Given the description of an element on the screen output the (x, y) to click on. 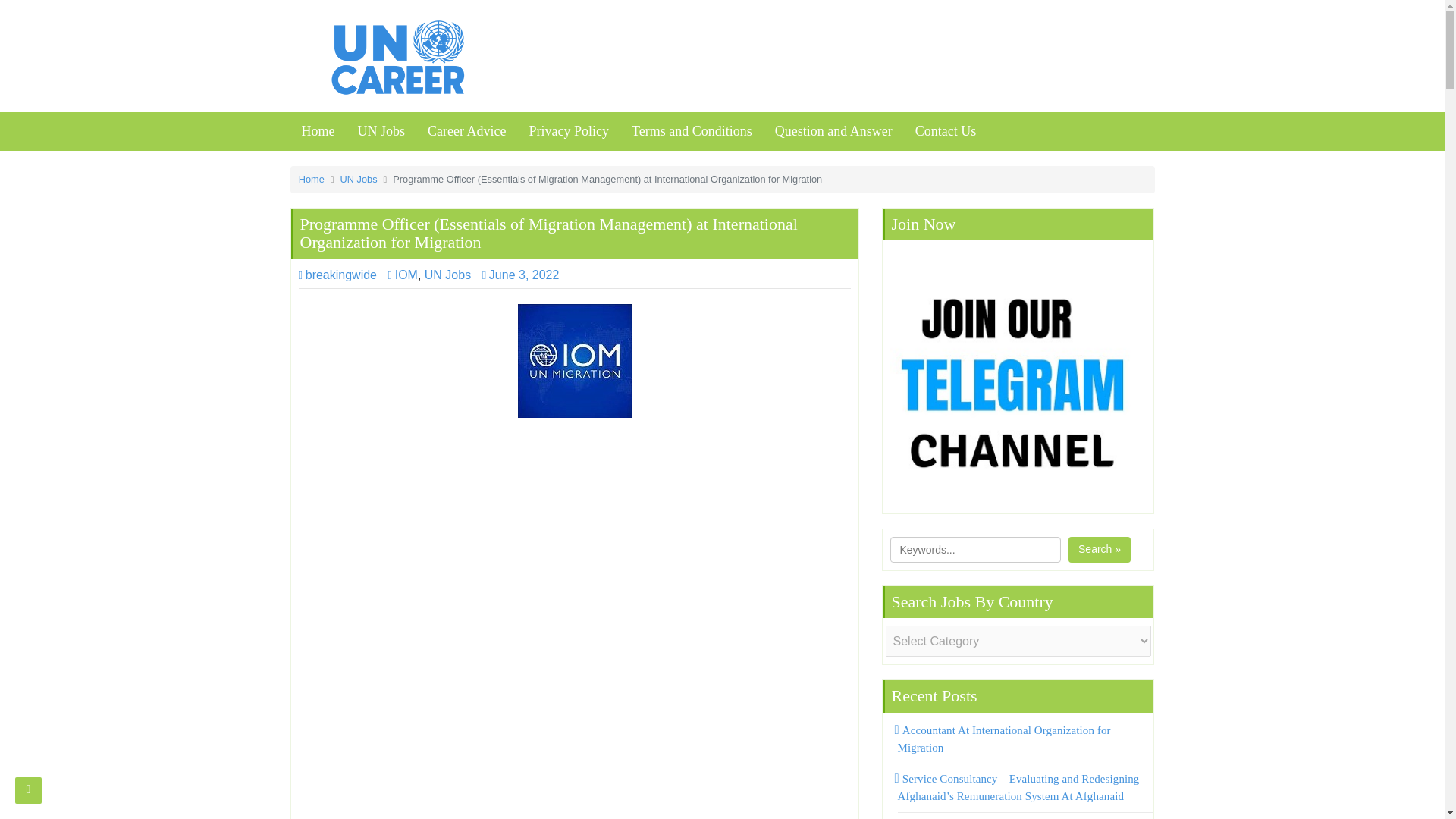
Privacy Policy (568, 131)
Accountant At International Organization for Migration (1004, 738)
Home (311, 179)
Advertisement (574, 742)
Terms and Conditions (691, 131)
Career Advice (466, 131)
IOM (401, 274)
UN Jobs (358, 179)
UN Jobs (381, 131)
Home (317, 131)
